Given the description of an element on the screen output the (x, y) to click on. 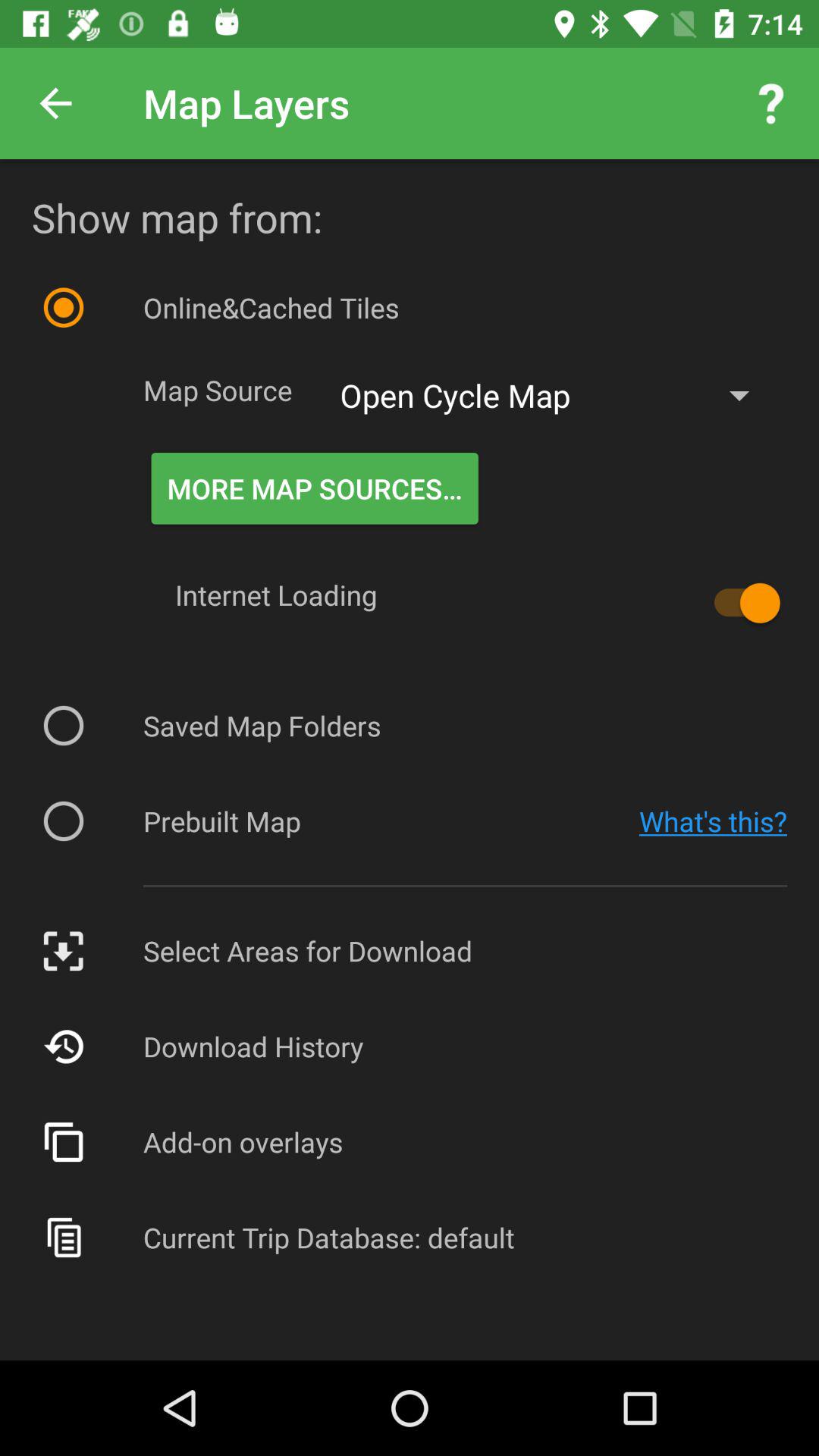
switch internet loading option (739, 603)
